Given the description of an element on the screen output the (x, y) to click on. 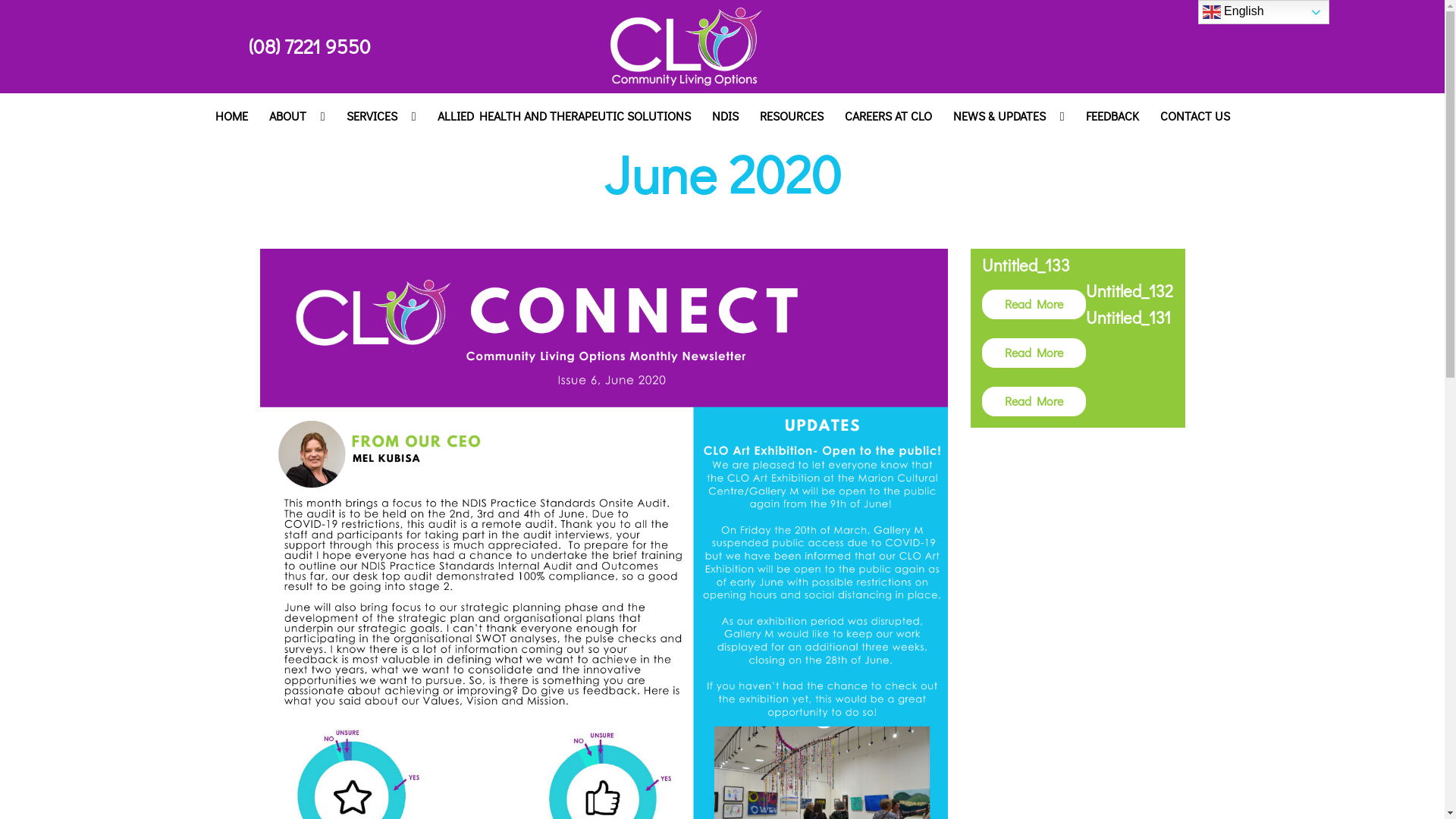
HOME Element type: text (231, 115)
ABOUT Element type: text (296, 115)
Read More Element type: text (1033, 401)
Read More Element type: text (1033, 352)
NDIS Element type: text (724, 115)
Read More Element type: text (1033, 304)
RESOURCES Element type: text (791, 115)
English Element type: text (1263, 12)
(08) 7221 9550 Element type: text (309, 46)
ALLIED HEALTH AND THERAPEUTIC SOLUTIONS Element type: text (563, 115)
SERVICES Element type: text (380, 115)
CONTACT US Element type: text (1195, 115)
NEWS & UPDATES Element type: text (1007, 115)
FEEDBACK Element type: text (1112, 115)
CAREERS AT CLO Element type: text (887, 115)
